Given the description of an element on the screen output the (x, y) to click on. 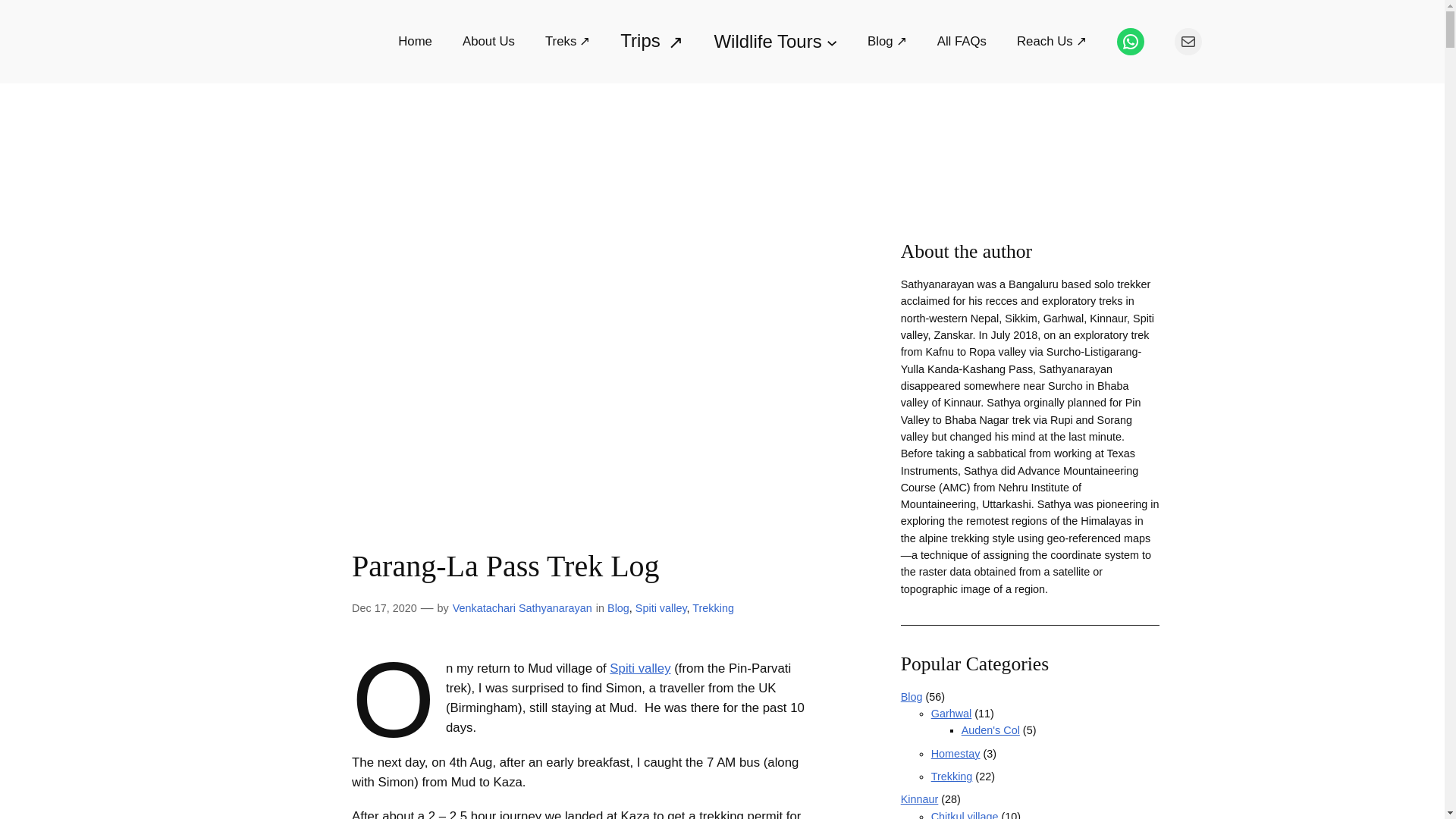
Reach Us (1051, 41)
Spiti valley (660, 607)
Venkatachari Sathyanarayan (522, 607)
Wildlife Tours (775, 41)
All FAQs (962, 41)
WhatsApp (1130, 41)
Treks (566, 41)
Mail (1188, 41)
Spiti valley (639, 667)
Blog (617, 607)
Trips (651, 41)
Dec 17, 2020 (384, 607)
Home (414, 41)
Trekking (713, 607)
Blog (887, 41)
